Given the description of an element on the screen output the (x, y) to click on. 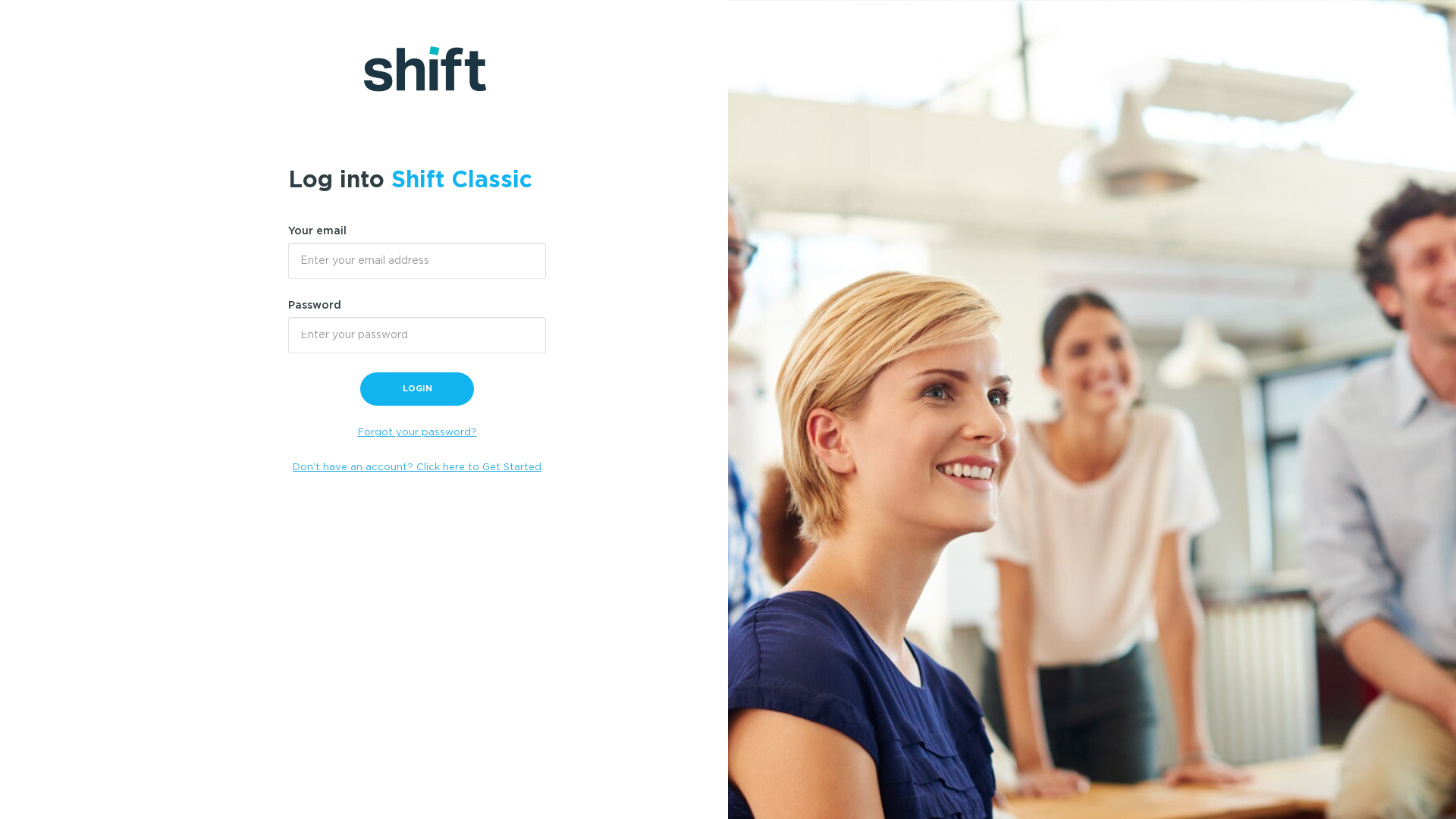
SHIFT Element type: hover (477, 68)
Forgot your password? Element type: text (416, 432)
Login Element type: text (416, 388)
